Given the description of an element on the screen output the (x, y) to click on. 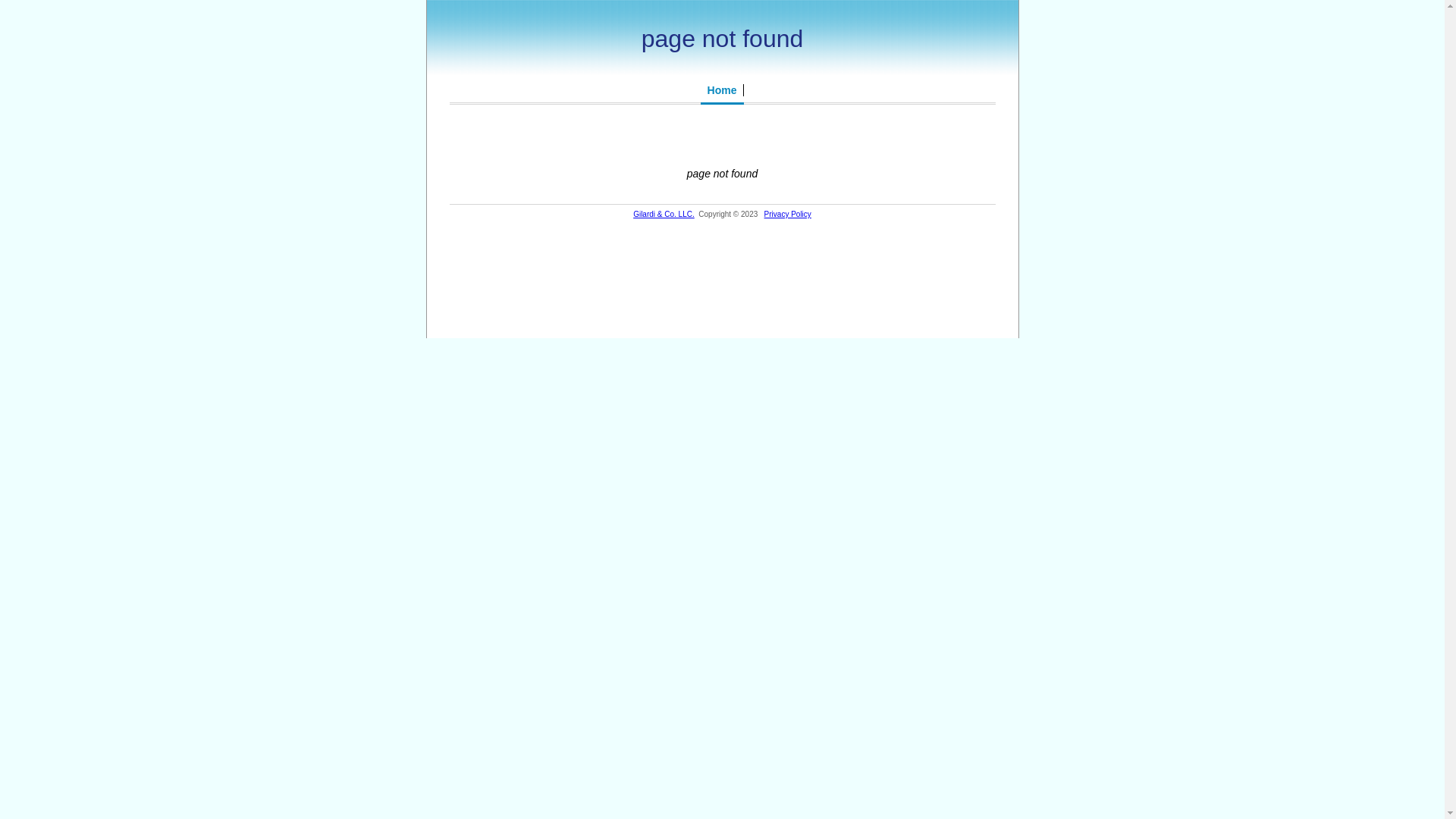
Gilardi & Co. LLC. Element type: text (663, 214)
Privacy Policy Element type: text (787, 214)
Home Element type: text (722, 90)
